Given the description of an element on the screen output the (x, y) to click on. 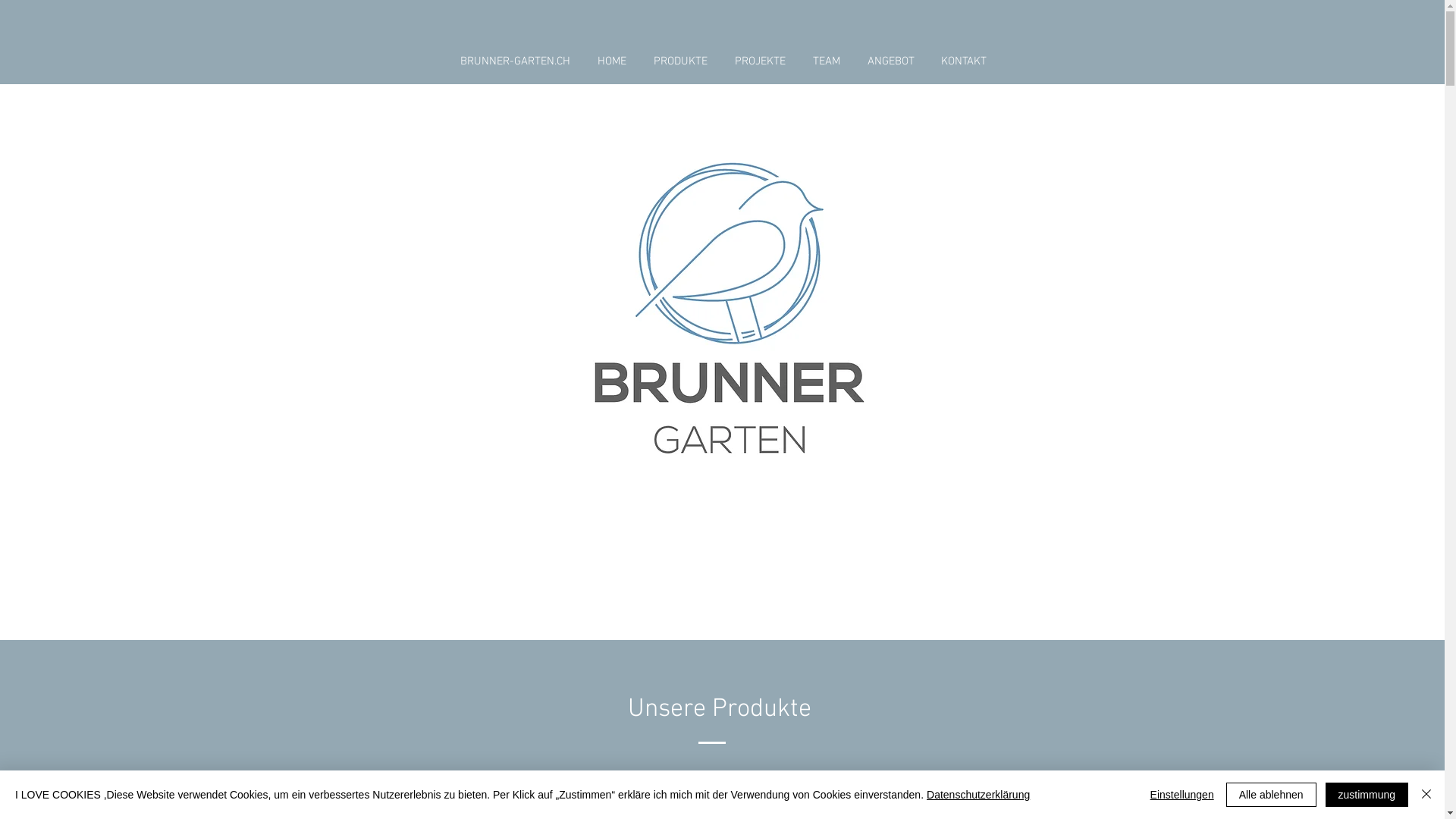
HOME Element type: text (611, 61)
PRODUKTE Element type: text (680, 61)
TEAM Element type: text (826, 61)
KONTAKT Element type: text (964, 61)
zustimmung Element type: text (1366, 794)
BRUNNER-GARTEN.CH Element type: text (514, 61)
PROJEKTE Element type: text (759, 61)
Alle ablehnen Element type: text (1271, 794)
Logo von Brunner GartnVogel im Nest mit SchriftBrunnrGatn Element type: hover (728, 307)
ANGEBOT Element type: text (890, 61)
